Given the description of an element on the screen output the (x, y) to click on. 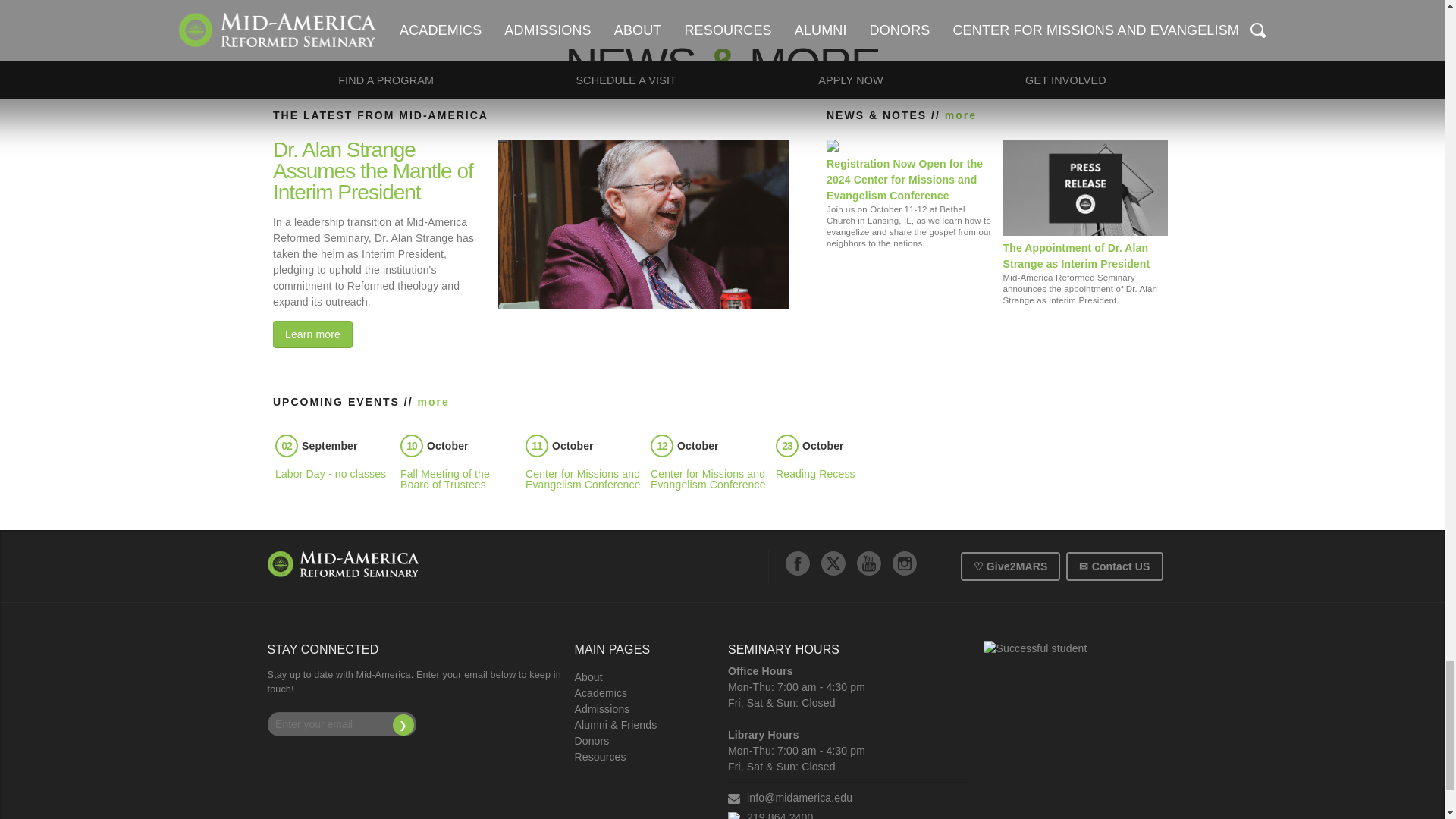
Home (342, 563)
Tune into Mid-America on YouTube (868, 563)
Follow Mid-America on Twitter (833, 563)
Follow Mid-America on Instagram (904, 563)
Follow Mid-America on Facebook (797, 563)
